Given the description of an element on the screen output the (x, y) to click on. 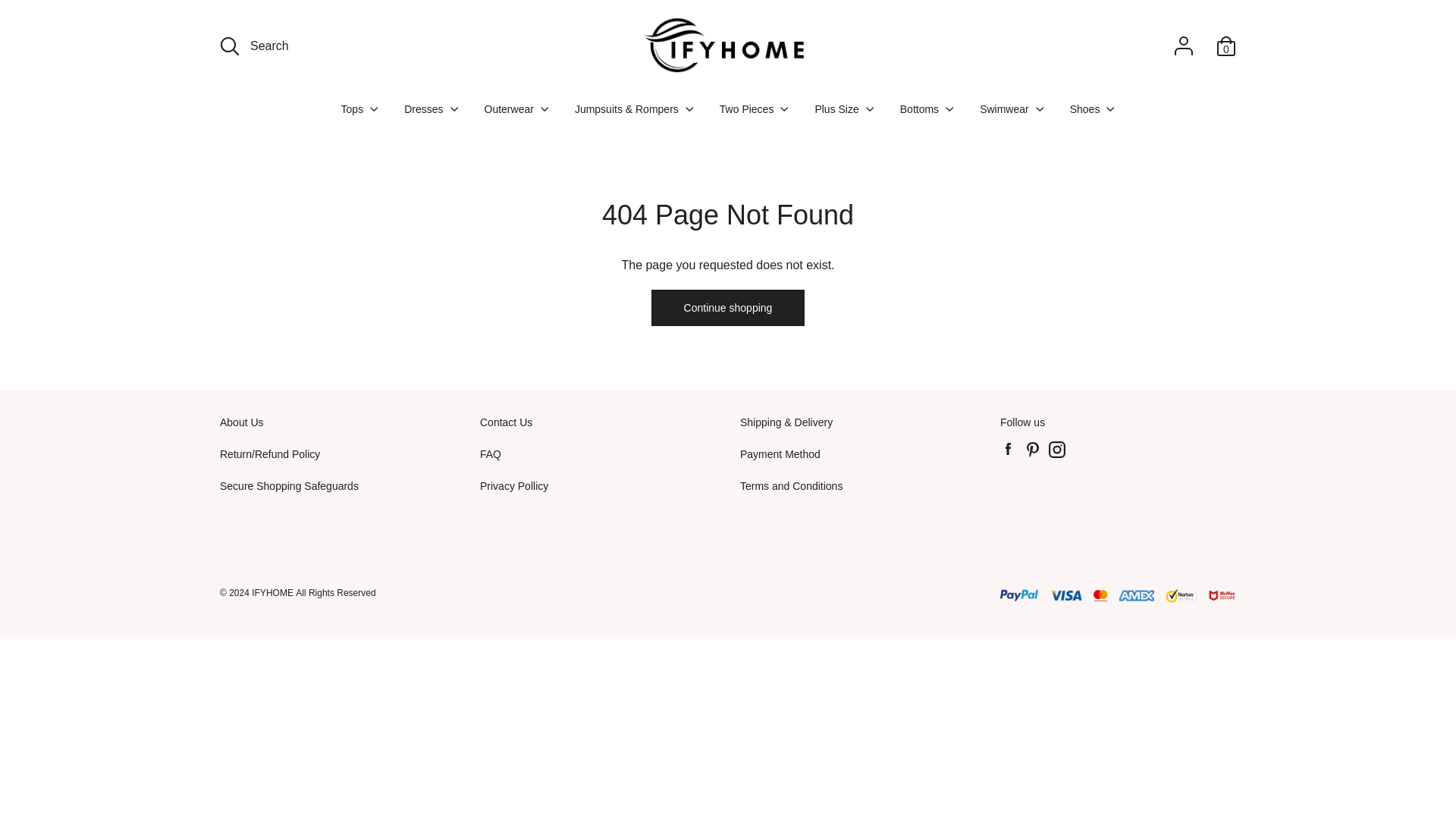
Tops (360, 115)
Dresses (430, 115)
Outerwear (516, 115)
0 (1225, 46)
